Given the description of an element on the screen output the (x, y) to click on. 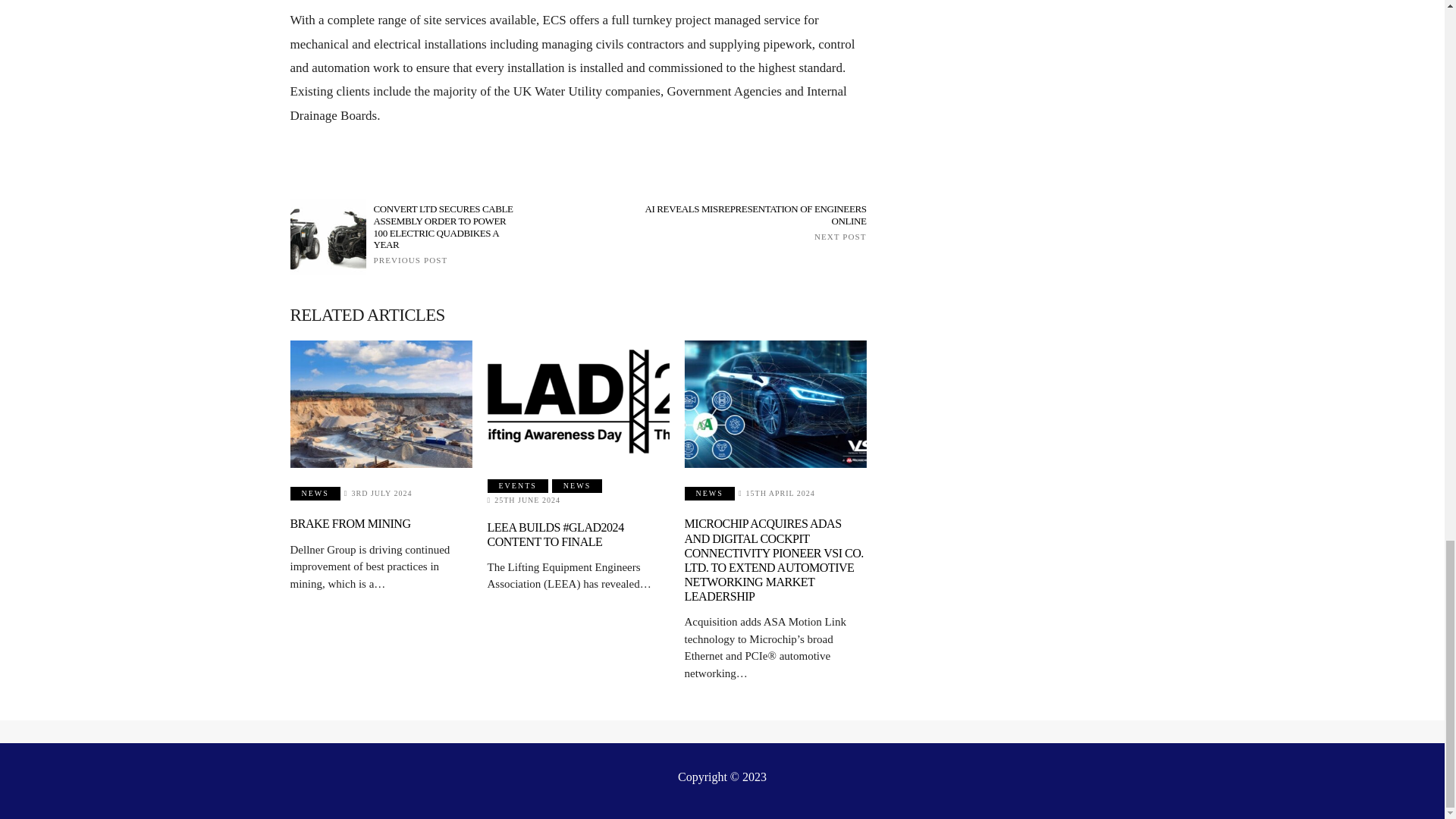
Brake from Mining (380, 403)
NEWS (314, 493)
EVENTS (517, 486)
BRAKE FROM MINING (751, 221)
